Given the description of an element on the screen output the (x, y) to click on. 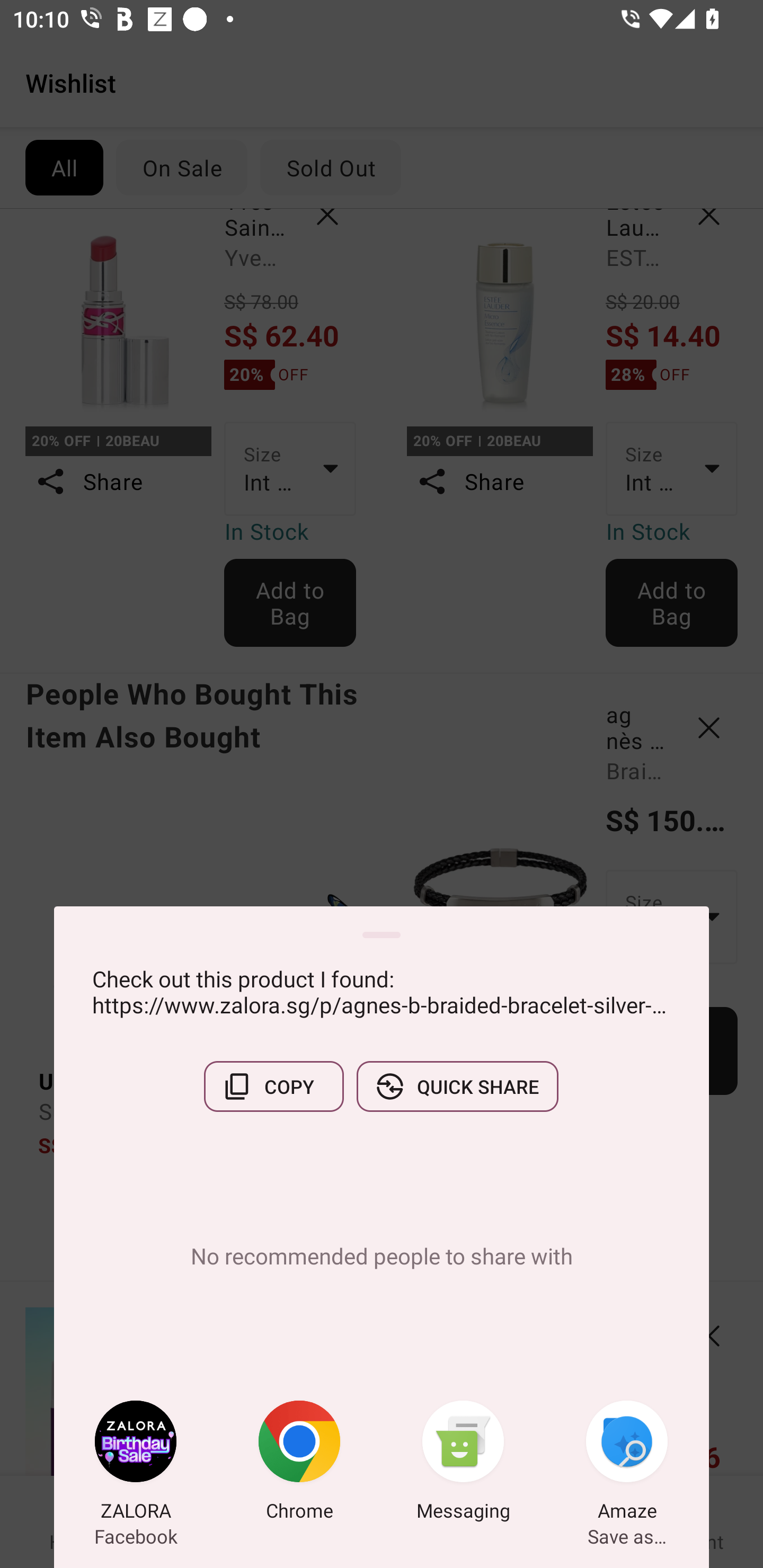
COPY (273, 1086)
QUICK SHARE (457, 1086)
ZALORA Facebook (135, 1463)
Chrome (299, 1463)
Messaging (463, 1463)
Amaze Save as… (626, 1463)
